Given the description of an element on the screen output the (x, y) to click on. 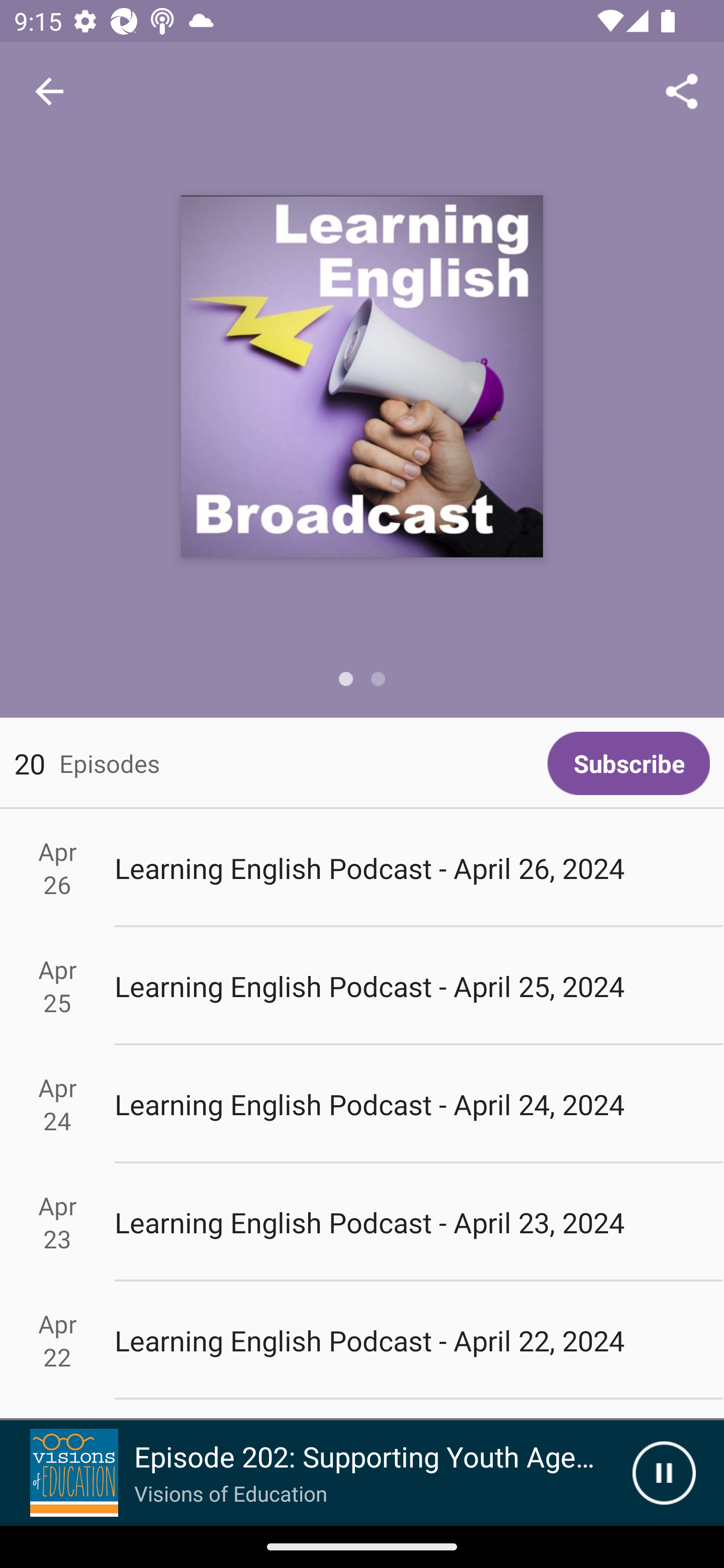
Navigate up (49, 91)
Share... (681, 90)
Subscribe (628, 763)
Apr 26 Learning English Podcast - April 26, 2024 (362, 867)
Apr 25 Learning English Podcast - April 25, 2024 (362, 985)
Apr 24 Learning English Podcast - April 24, 2024 (362, 1104)
Apr 23 Learning English Podcast - April 23, 2024 (362, 1222)
Apr 22 Learning English Podcast - April 22, 2024 (362, 1340)
Pause (663, 1472)
